Given the description of an element on the screen output the (x, y) to click on. 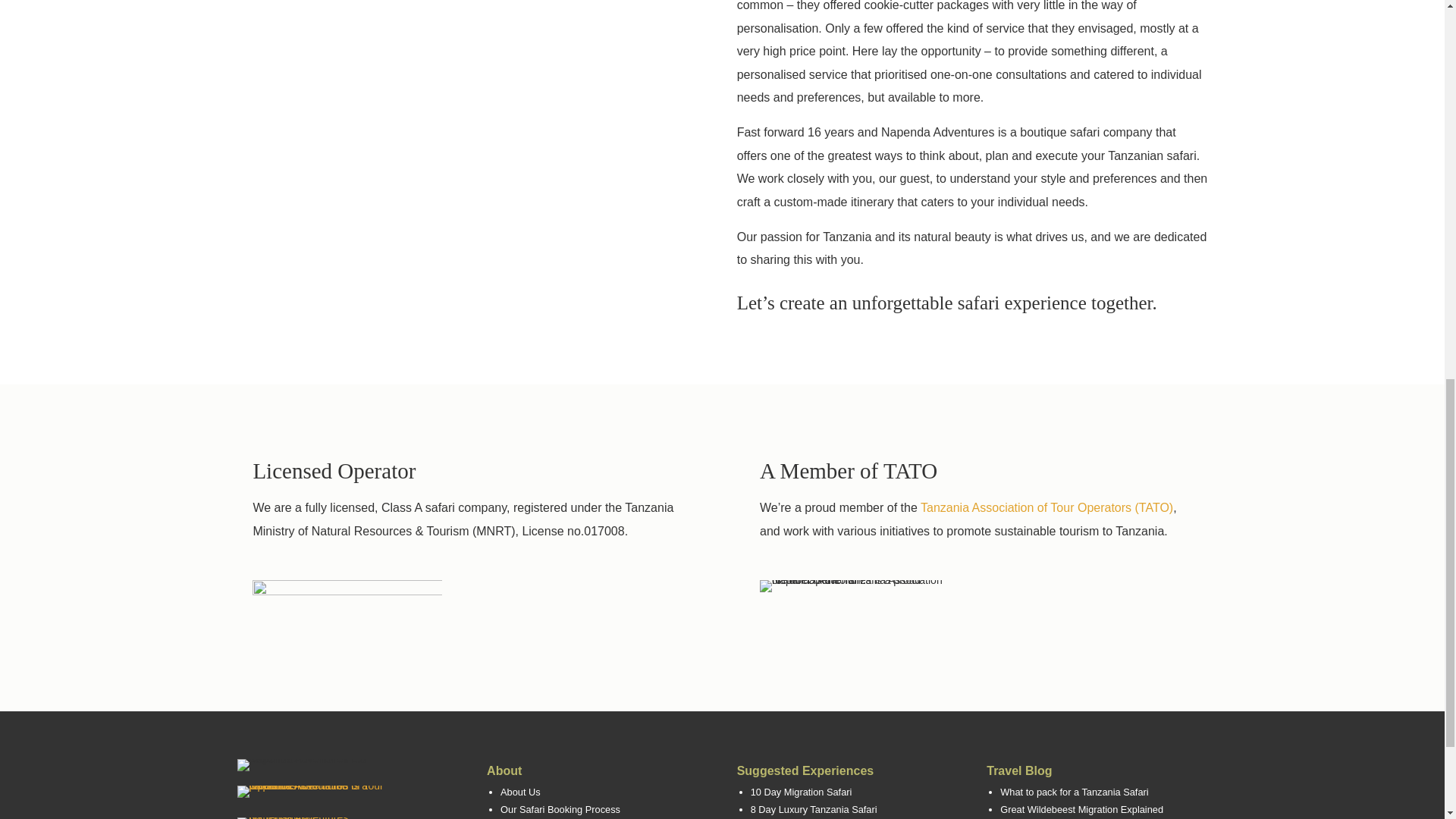
Travel Blog (1019, 770)
MNRT-License-for-Napenda-Adventures (346, 608)
About Us (520, 791)
Our Safari Booking Process (560, 808)
What to pack for a Tanzania Safari (1074, 791)
Napenda Adventures on Tripadvisor (292, 818)
8 Day Luxury Tanzania Safari (814, 808)
Napenda Adventures Ltd Logo (311, 765)
10 Day Migration Safari (801, 791)
Great Wildebeest Migration Explained (1081, 808)
